Given the description of an element on the screen output the (x, y) to click on. 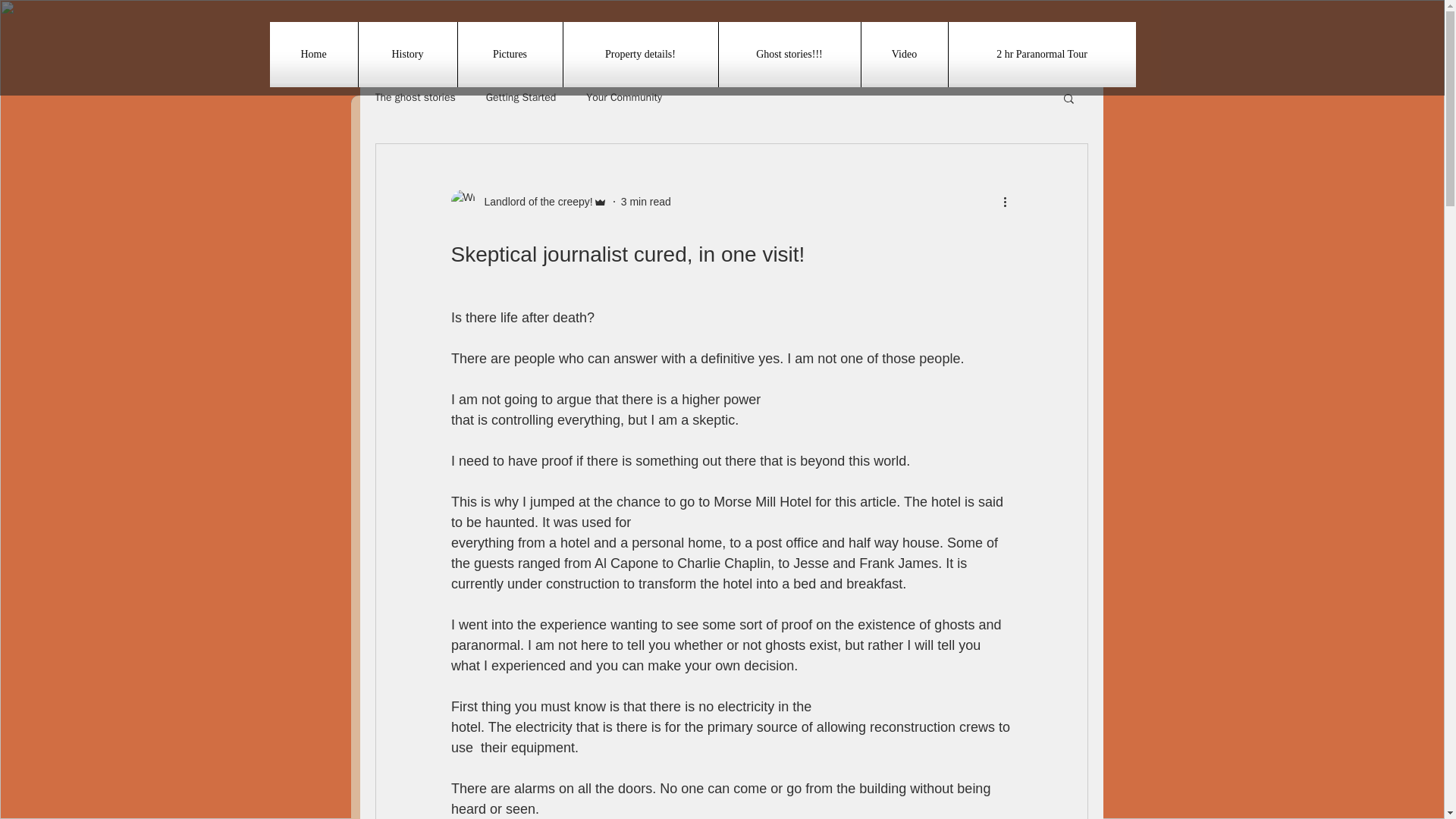
Pictures (510, 54)
Home (313, 54)
2 hr Paranormal Tour (1041, 54)
Getting Started (521, 97)
Video (904, 54)
Landlord of the creepy! (533, 201)
Landlord of the creepy! (528, 201)
Ghost stories!!! (789, 54)
3 min read (646, 201)
Property details! (639, 54)
